Given the description of an element on the screen output the (x, y) to click on. 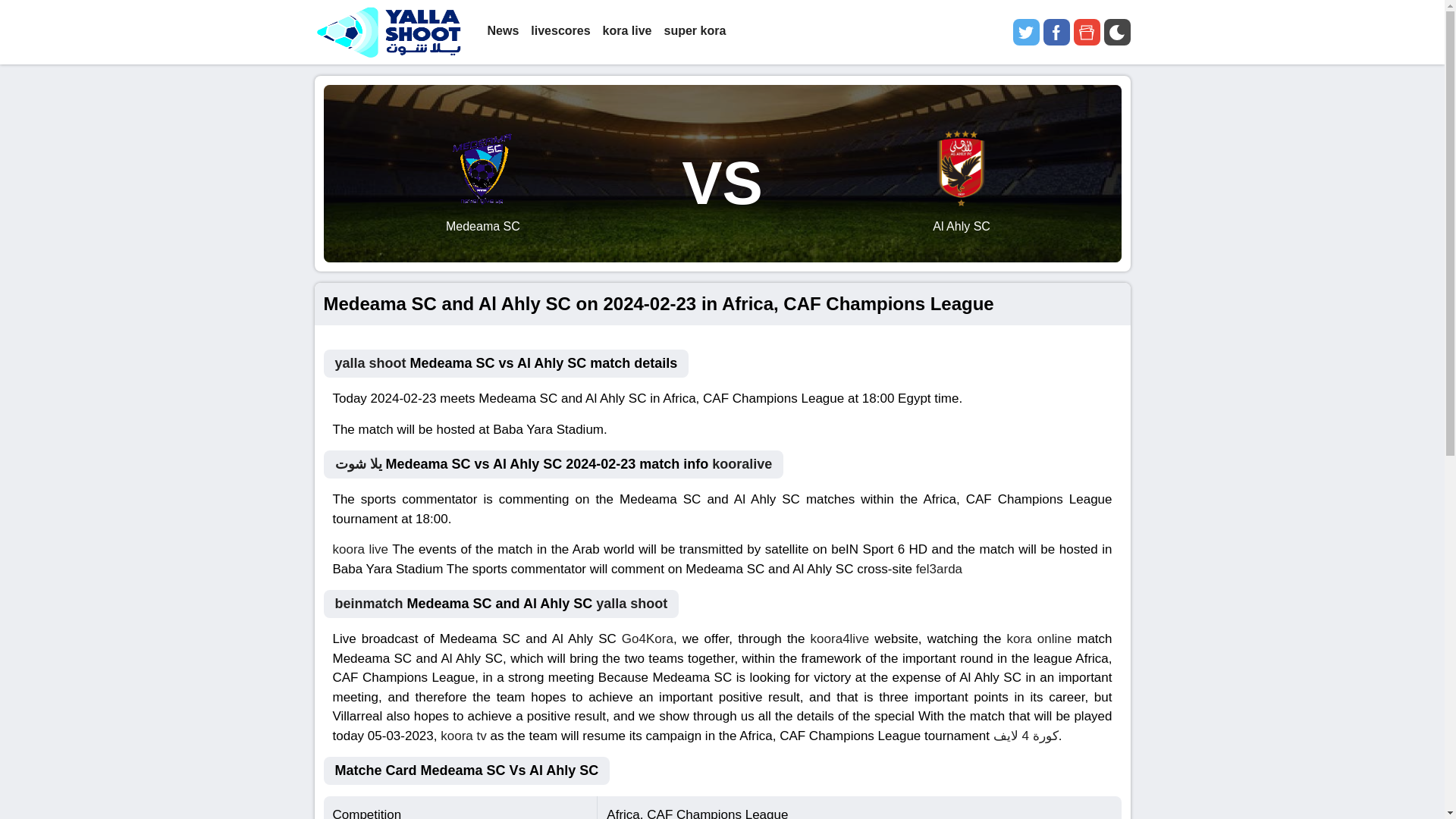
koora4live (839, 638)
koora live (359, 549)
kooralive (741, 463)
kora online (1039, 638)
kora live (627, 31)
beinmatch (368, 603)
fel3arda (938, 568)
koora tv (463, 735)
super kora (695, 31)
yalla shoot (630, 603)
News (502, 31)
Go4Kora (646, 638)
livescores (559, 31)
yalla shoot (370, 363)
